Given the description of an element on the screen output the (x, y) to click on. 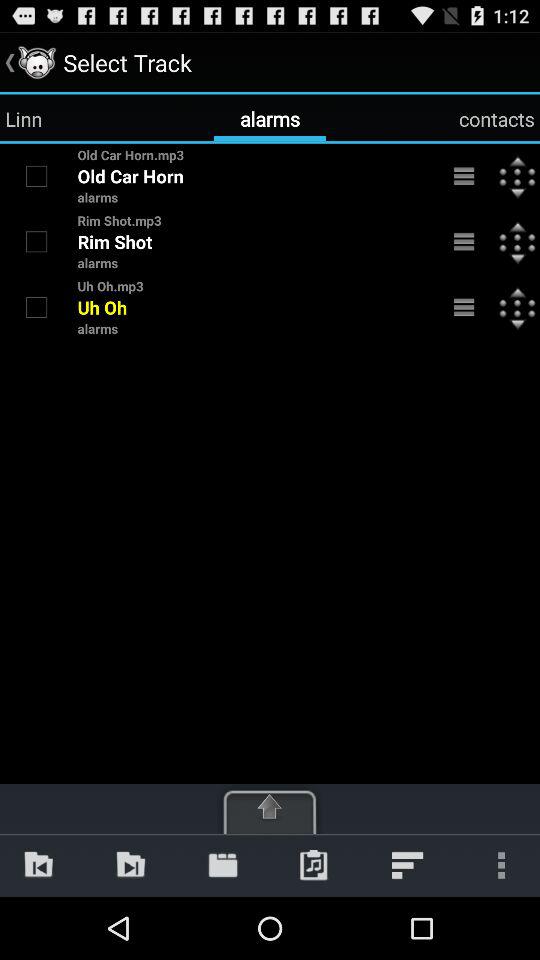
options (463, 241)
